Given the description of an element on the screen output the (x, y) to click on. 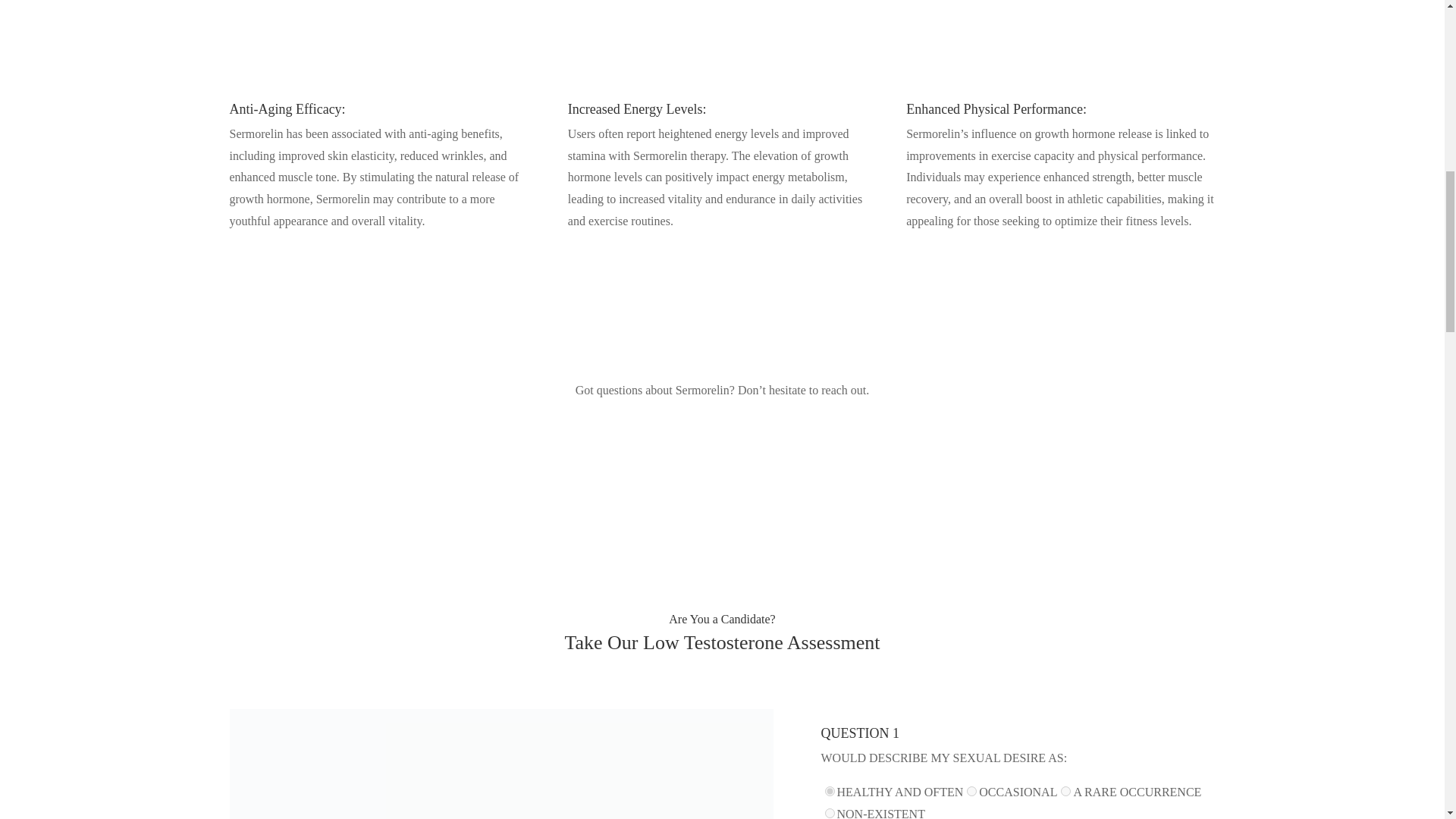
NON-EXISTENT (829, 813)
question-banner (500, 764)
A RARE OCCURRENCE (1065, 791)
HEALTHY AND OFTEN (829, 791)
OCCASIONAL (971, 791)
